Given the description of an element on the screen output the (x, y) to click on. 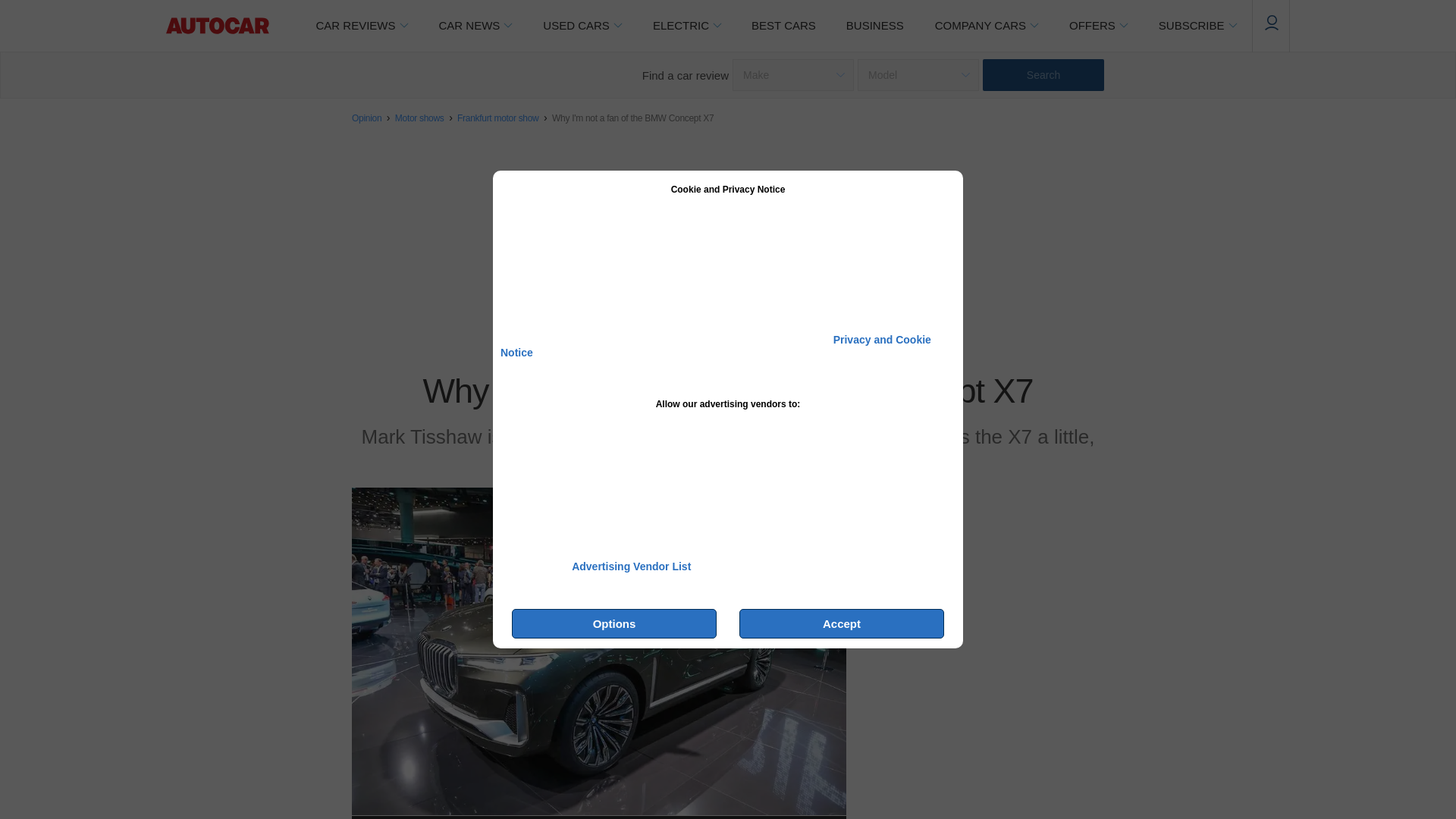
ELECTRIC (686, 26)
CAR REVIEWS (360, 26)
Autocar Electric (686, 26)
Top 10 cars by segment (783, 26)
Autocar Business news, insight and opinion (874, 26)
BEST CARS (783, 26)
CAR NEWS (475, 26)
USED CARS (582, 26)
BUSINESS (874, 26)
COMPANY CARS (985, 26)
